Given the description of an element on the screen output the (x, y) to click on. 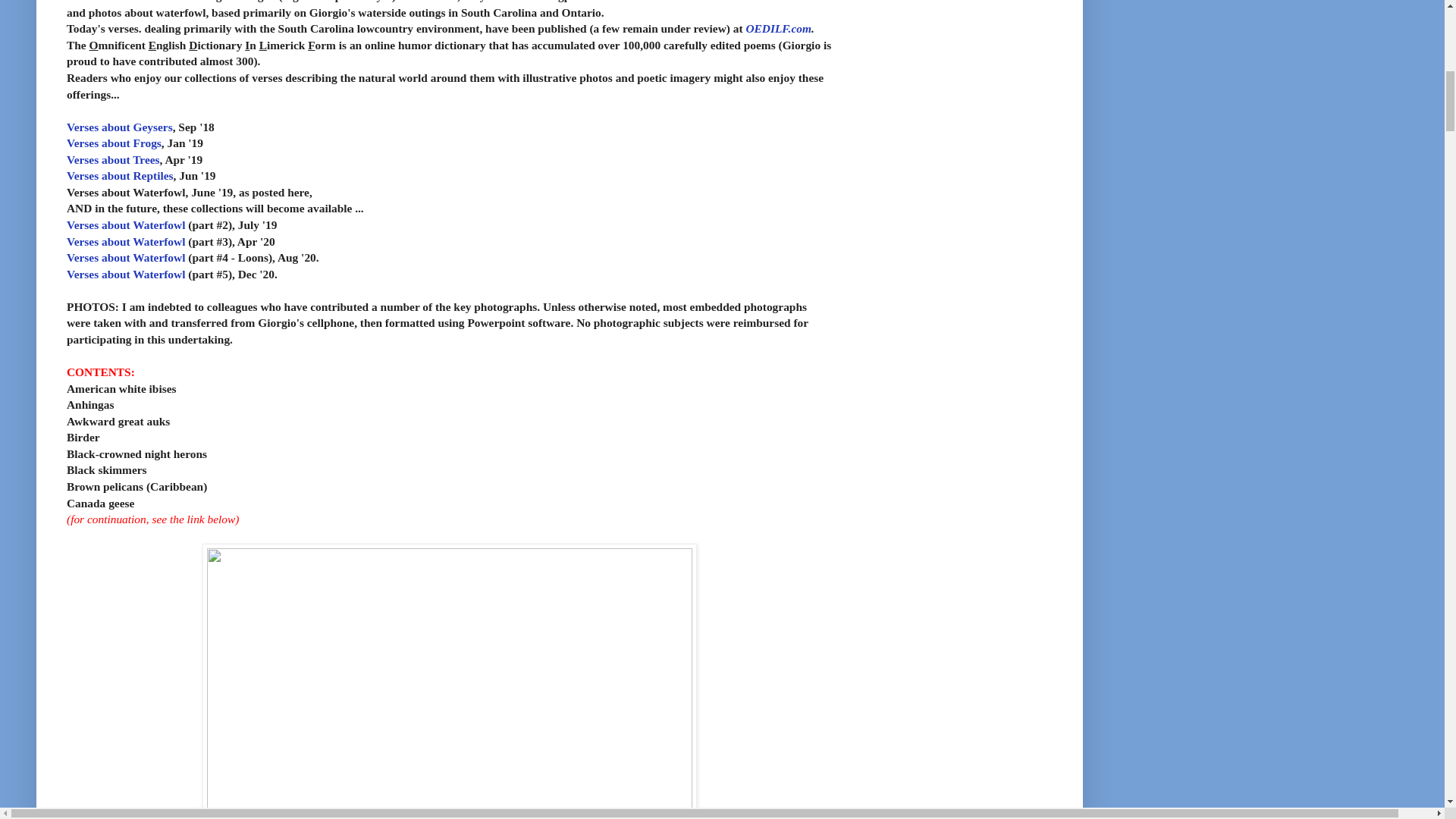
Verses about Frogs (113, 142)
Verses about Trees (113, 159)
Verses about Waterfowl (125, 256)
Verses about Geysers (119, 126)
Verses about Waterfowl (125, 224)
Verses about Waterfowl (125, 241)
OEDILF.com (777, 28)
Verses about Reptiles (119, 174)
Verses about Waterfowl (125, 273)
